Given the description of an element on the screen output the (x, y) to click on. 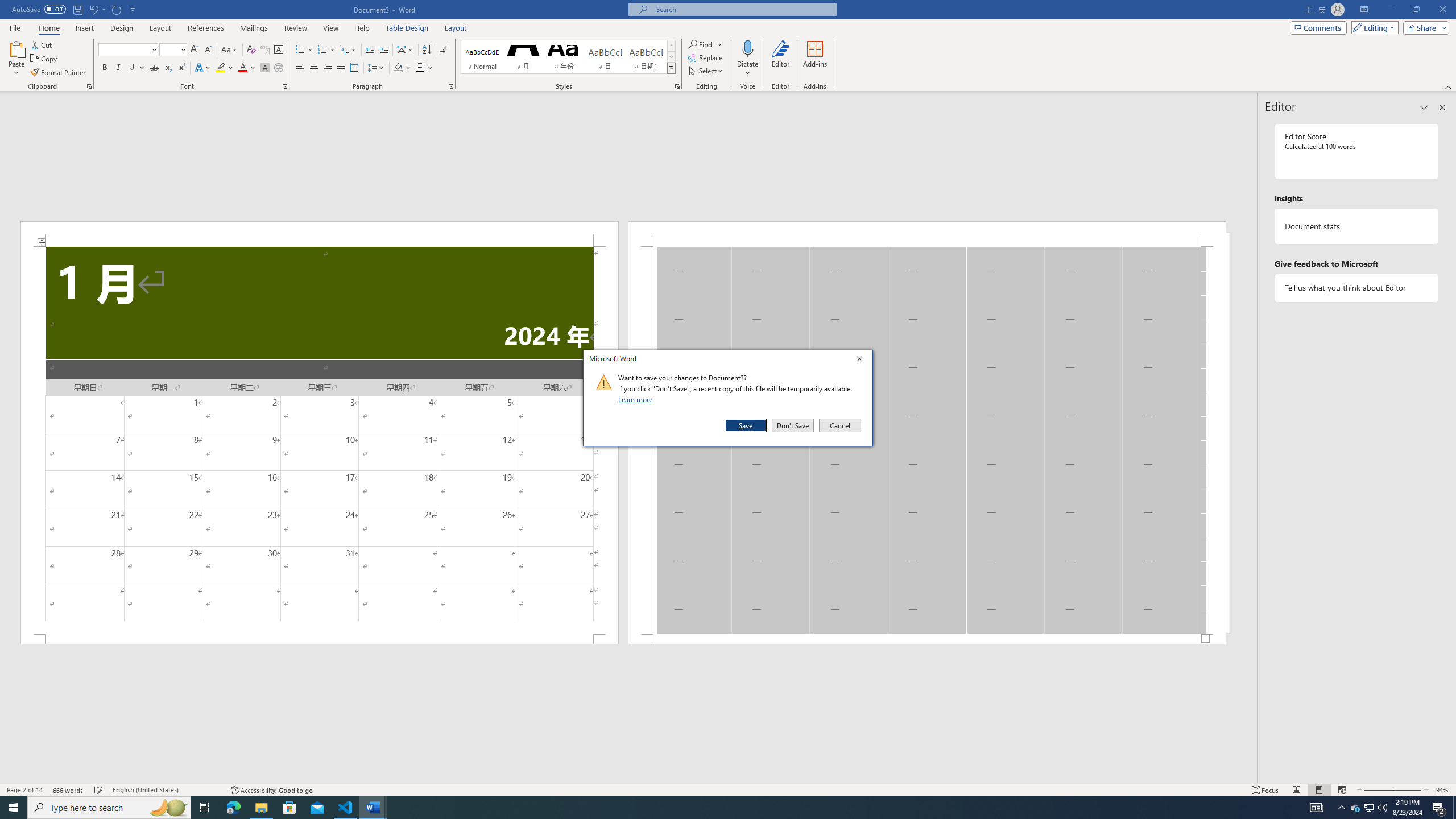
Class: MsoCommandBar (1355, 807)
Justify (728, 789)
Enclose Characters... (340, 67)
Show desktop (278, 67)
Clear Formatting (1454, 807)
Text Highlight Color (250, 49)
Word - 2 running windows (224, 67)
Multilevel List (373, 807)
